Given the description of an element on the screen output the (x, y) to click on. 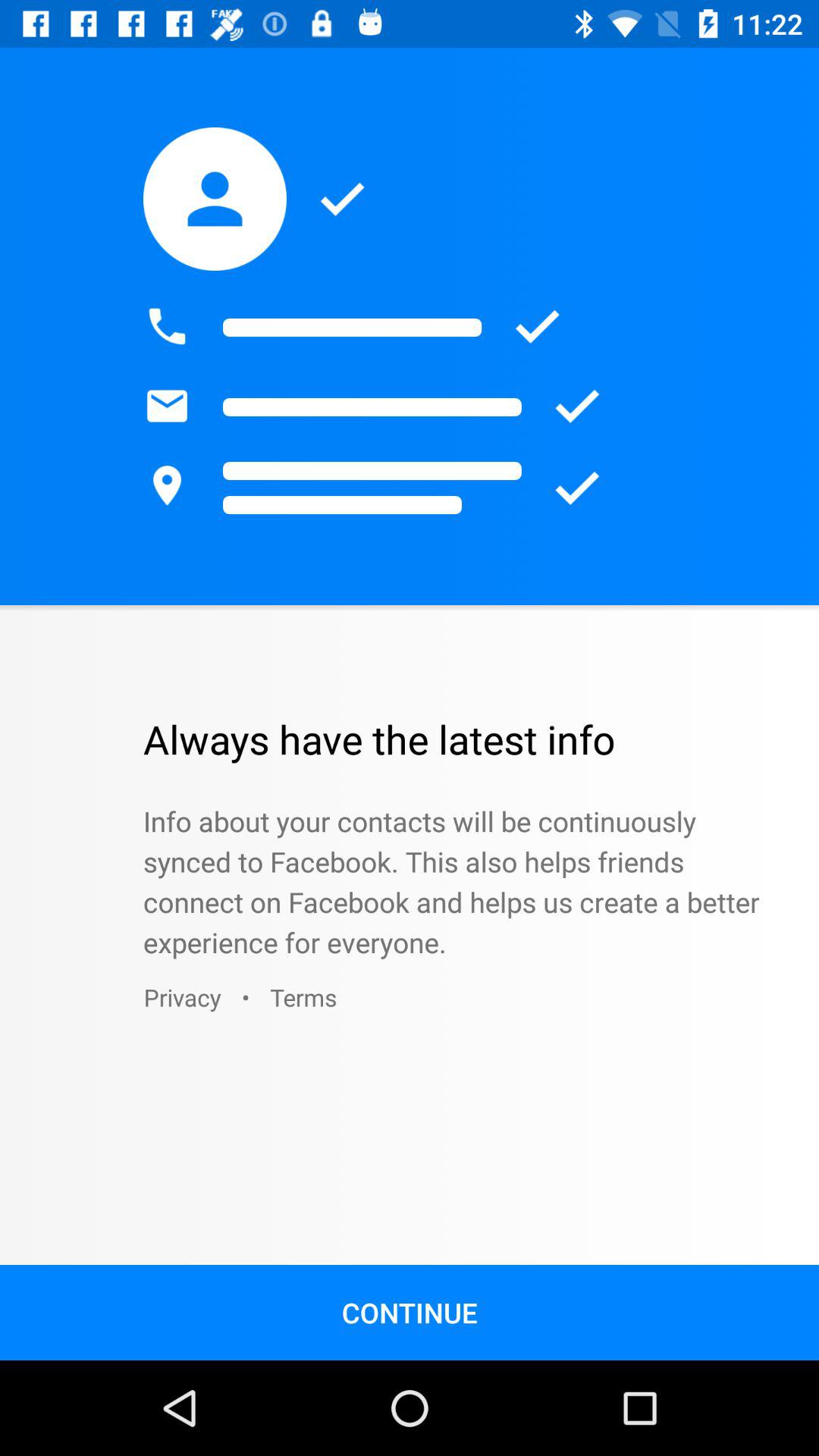
scroll to continue (409, 1312)
